Given the description of an element on the screen output the (x, y) to click on. 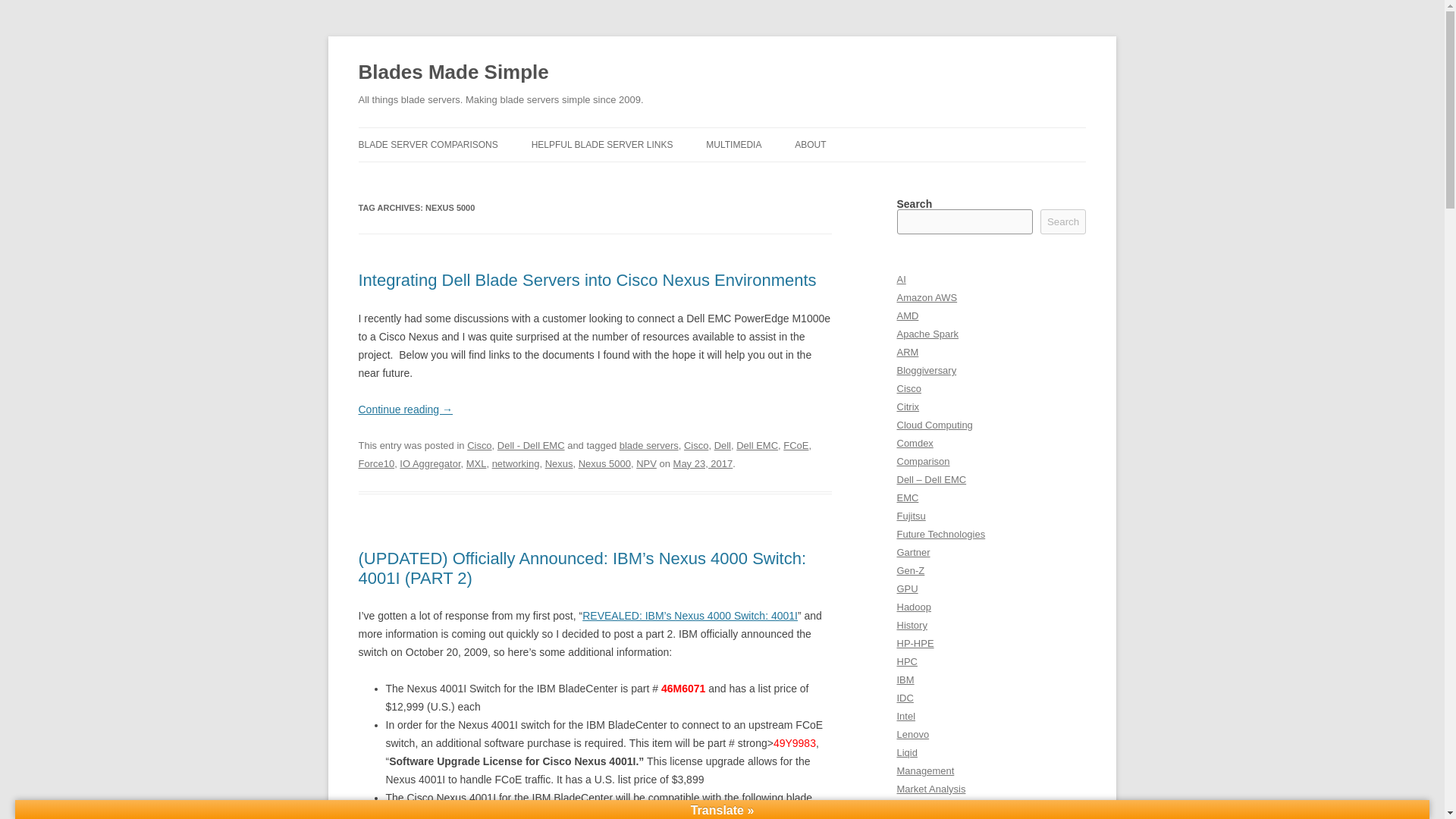
Integrating Dell Blade Servers into Cisco Nexus Environments (586, 280)
Nexus (558, 463)
blade servers (649, 445)
Blades Made Simple (453, 72)
HELPFUL BLADE SERVER LINKS (601, 144)
MULTIMEDIA (733, 144)
Nexus 5000 (604, 463)
NPV (646, 463)
Dell (722, 445)
Cisco (695, 445)
